Given the description of an element on the screen output the (x, y) to click on. 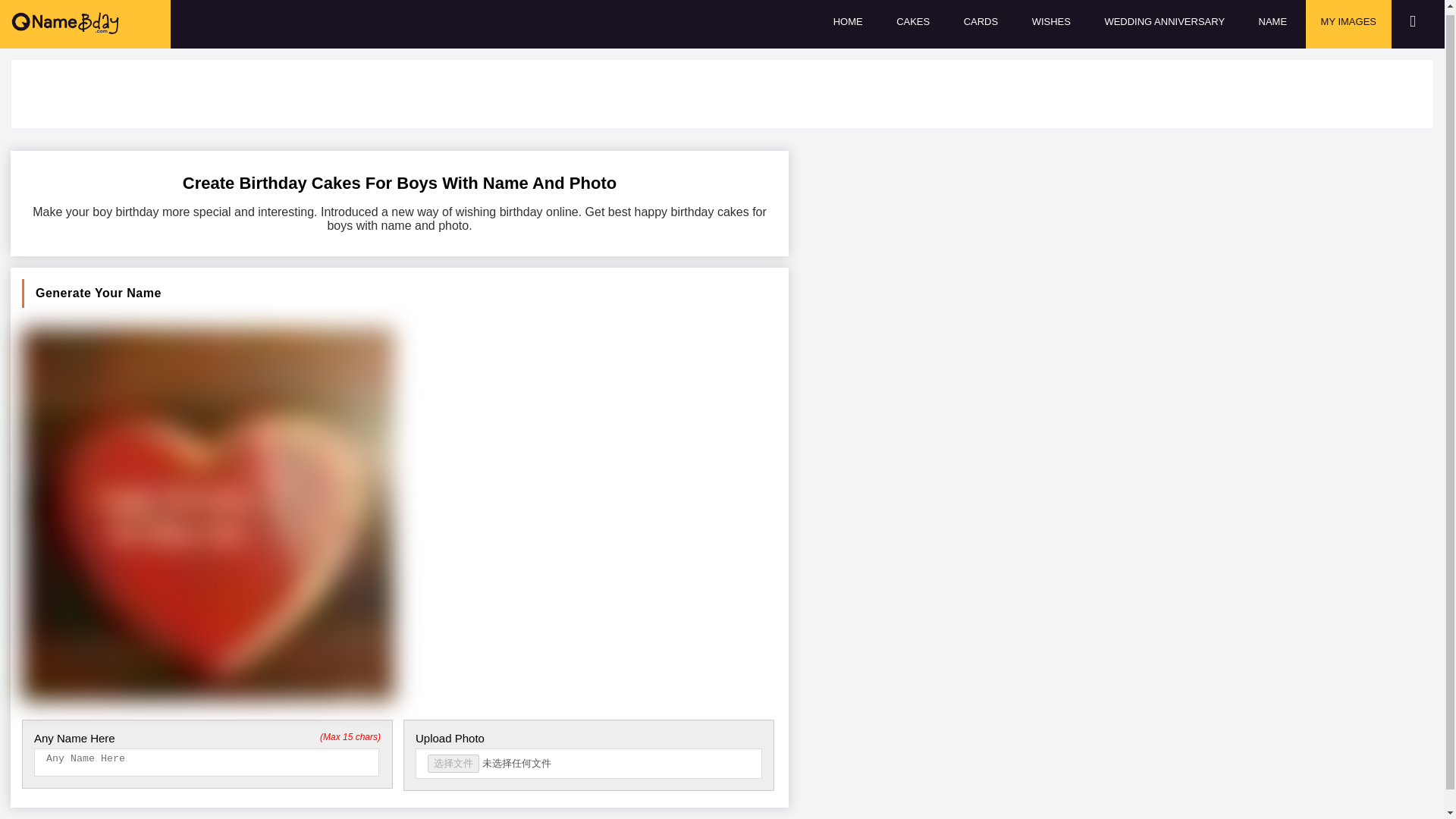
CARDS (981, 24)
WISHES (1051, 24)
MY IMAGES (1348, 24)
CAKES (912, 24)
HOME (847, 24)
NAME (1273, 24)
WEDDING ANNIVERSARY (1164, 24)
